Given the description of an element on the screen output the (x, y) to click on. 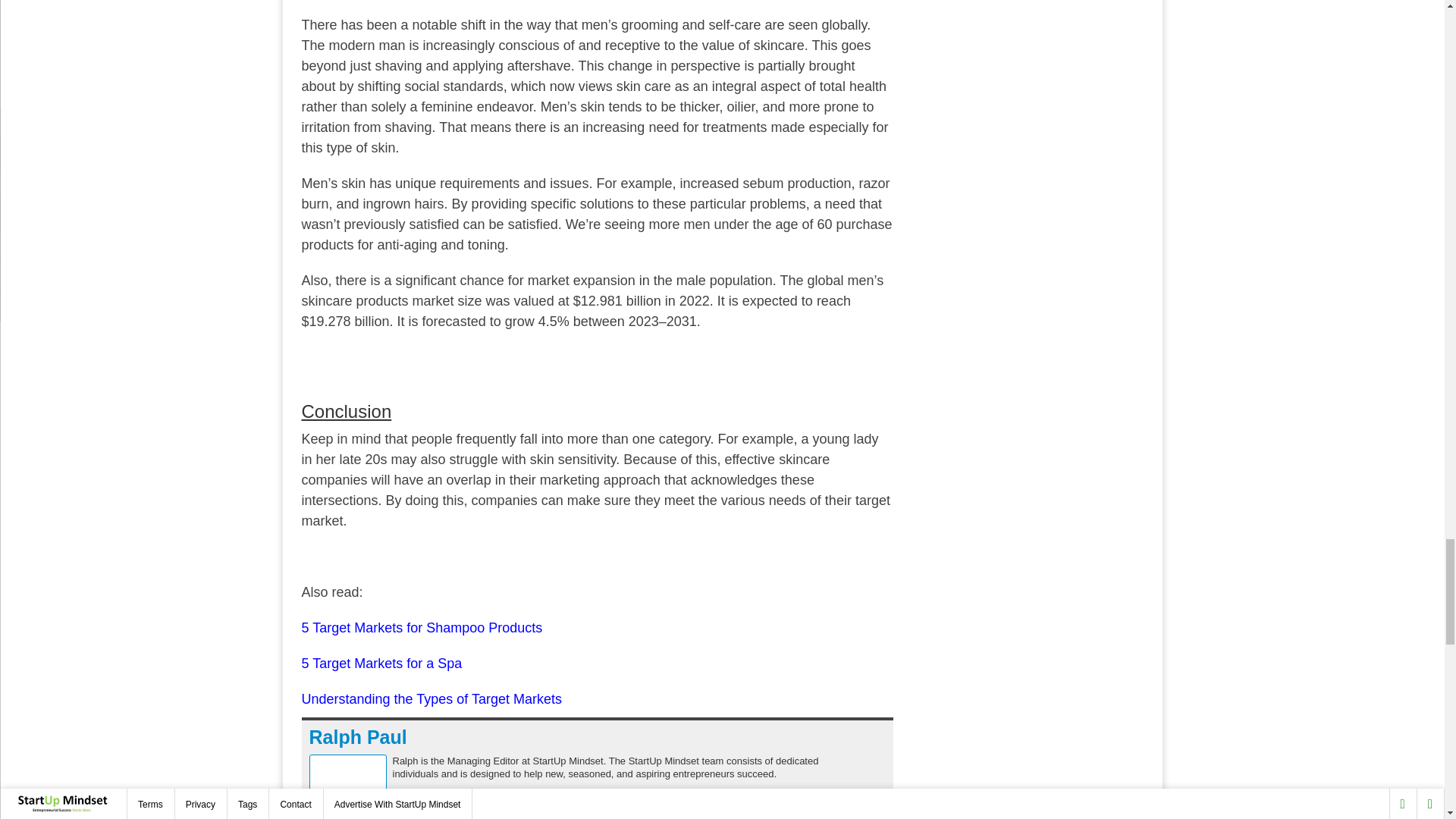
Ralph Paul (357, 736)
5 Target Markets for a Spa (382, 662)
5 Target Markets for Shampoo Products (422, 627)
Understanding the Types of Target Markets (431, 698)
Ralph Paul (357, 736)
